Given the description of an element on the screen output the (x, y) to click on. 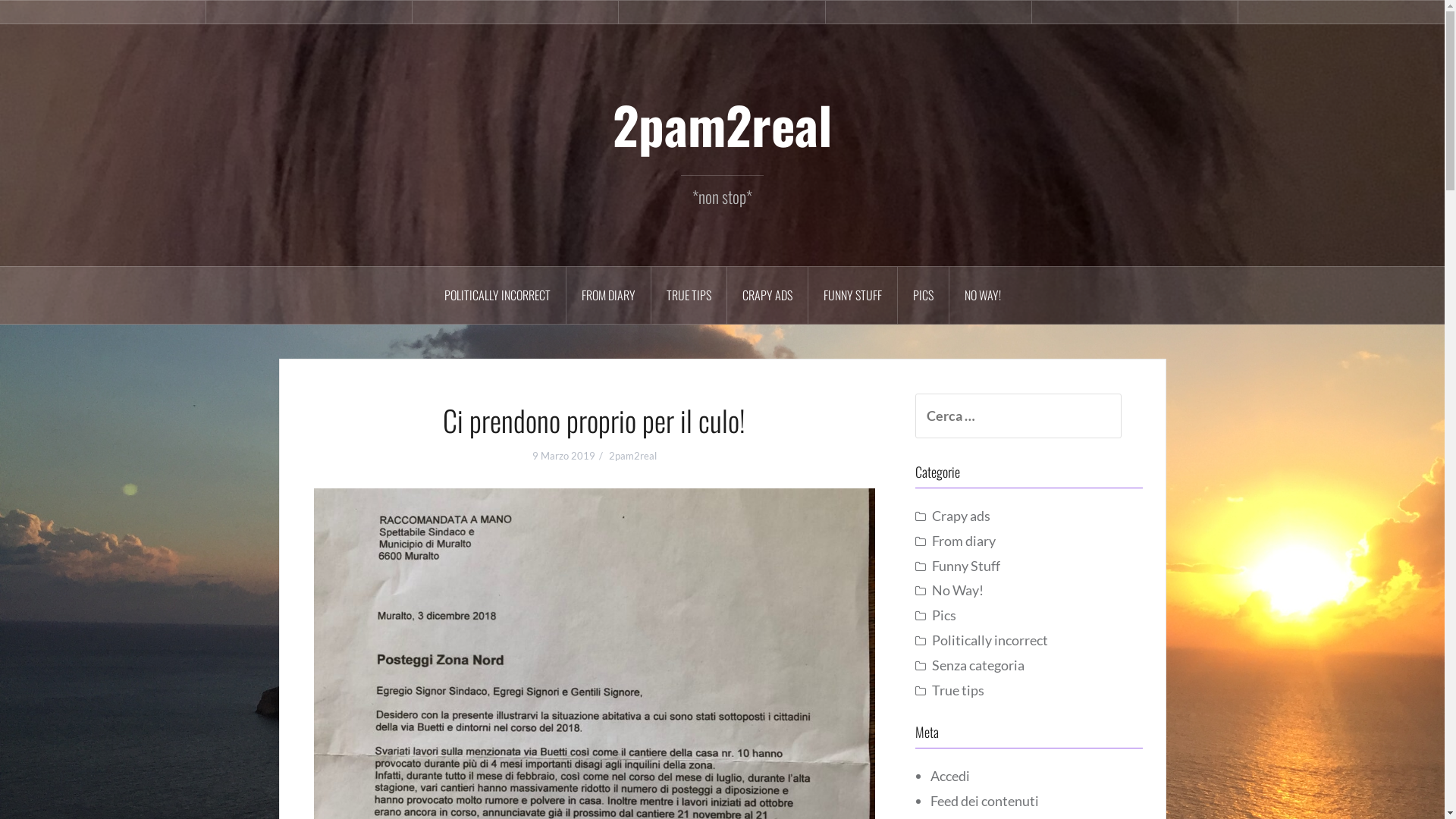
Pics Element type: text (1134, 11)
Cerca Element type: text (29, 22)
TRUE TIPS Element type: text (688, 295)
True tips Element type: text (515, 11)
Pics Element type: text (943, 614)
FUNNY STUFF Element type: text (852, 295)
From diary Element type: text (962, 540)
Funny Stuff Element type: text (928, 11)
Feed dei contenuti Element type: text (983, 800)
FROM DIARY Element type: text (607, 295)
2pam2real Element type: text (631, 455)
No Way! Element type: text (956, 589)
PICS Element type: text (923, 295)
Accedi Element type: text (949, 775)
From diary Element type: text (308, 11)
9 Marzo 2019 Element type: text (563, 455)
Crapy ads Element type: text (721, 11)
Senza categoria Element type: text (977, 664)
Politically incorrect Element type: text (989, 639)
Funny Stuff Element type: text (965, 565)
True tips Element type: text (957, 689)
No Way! Element type: text (1341, 11)
2pam2real Element type: text (721, 123)
Politically incorrect Element type: text (102, 11)
NO WAY! Element type: text (982, 295)
Crapy ads Element type: text (960, 515)
CRAPY ADS Element type: text (766, 295)
POLITICALLY INCORRECT Element type: text (497, 295)
